Given the description of an element on the screen output the (x, y) to click on. 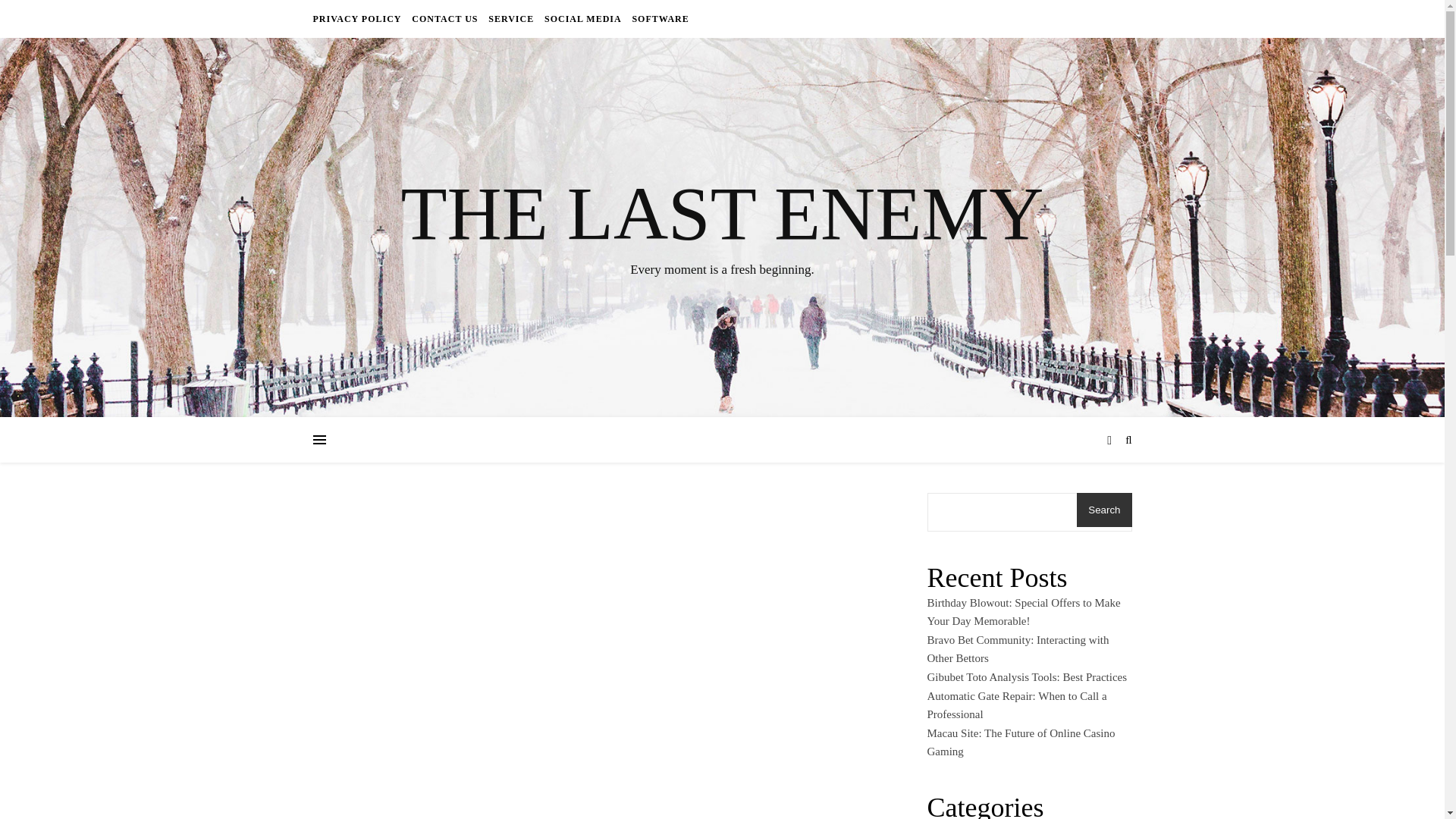
Gibubet Toto Analysis Tools: Best Practices (1026, 676)
SOCIAL MEDIA (583, 18)
Birthday Blowout: Special Offers to Make Your Day Memorable! (1022, 612)
Macau Site: The Future of Online Casino Gaming (1020, 742)
PRIVACY POLICY (358, 18)
Search (1104, 510)
SERVICE (510, 18)
SOFTWARE (657, 18)
CONTACT US (444, 18)
Bravo Bet Community: Interacting with Other Bettors (1017, 649)
Automatic Gate Repair: When to Call a Professional (1016, 705)
